Given the description of an element on the screen output the (x, y) to click on. 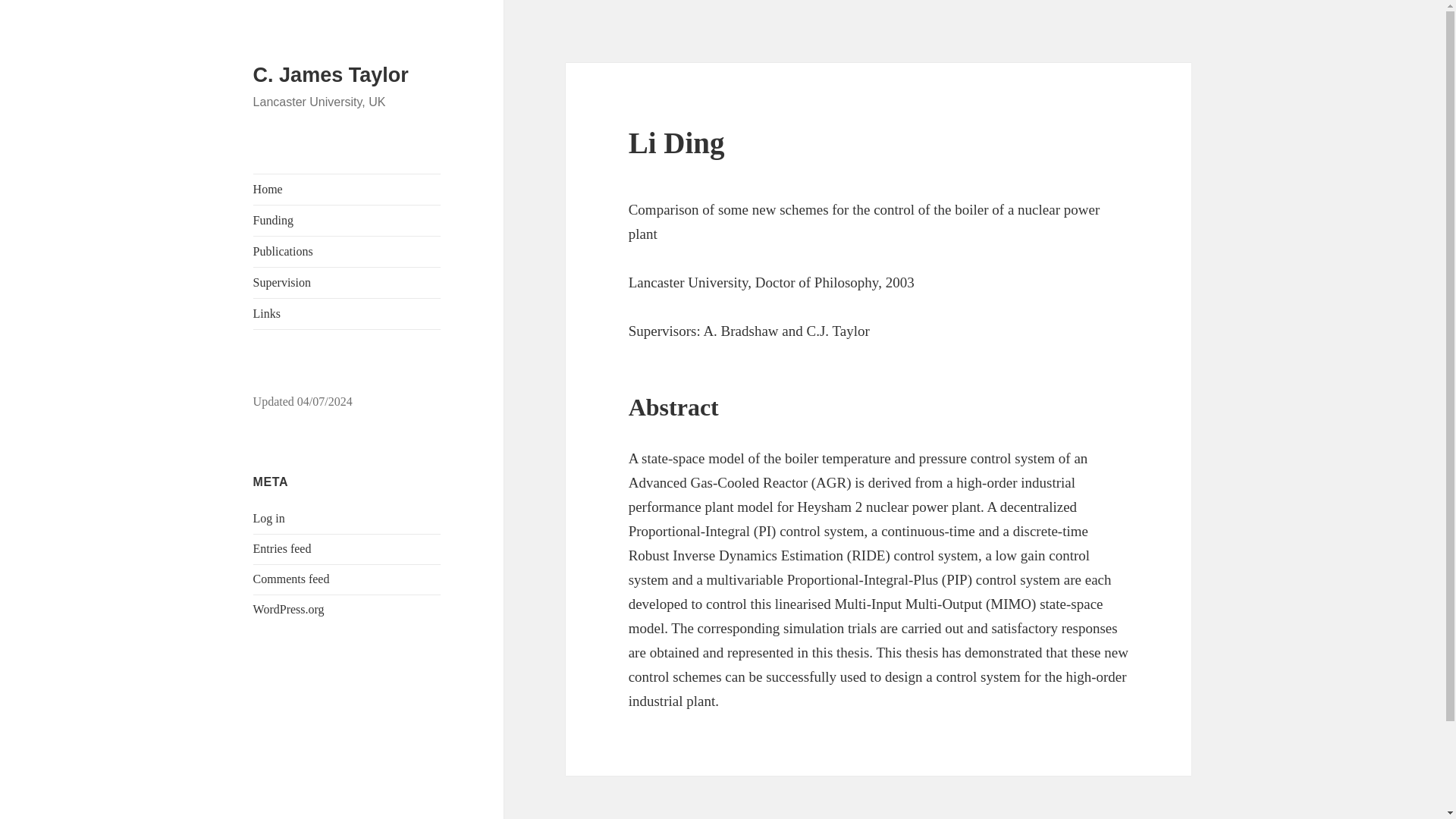
Log in (269, 517)
Funding (347, 220)
Comments feed (291, 578)
Links (347, 313)
WordPress.org (288, 608)
Entries feed (282, 548)
Publications (347, 251)
Supervision (347, 282)
Home (347, 189)
C. James Taylor (331, 74)
